Given the description of an element on the screen output the (x, y) to click on. 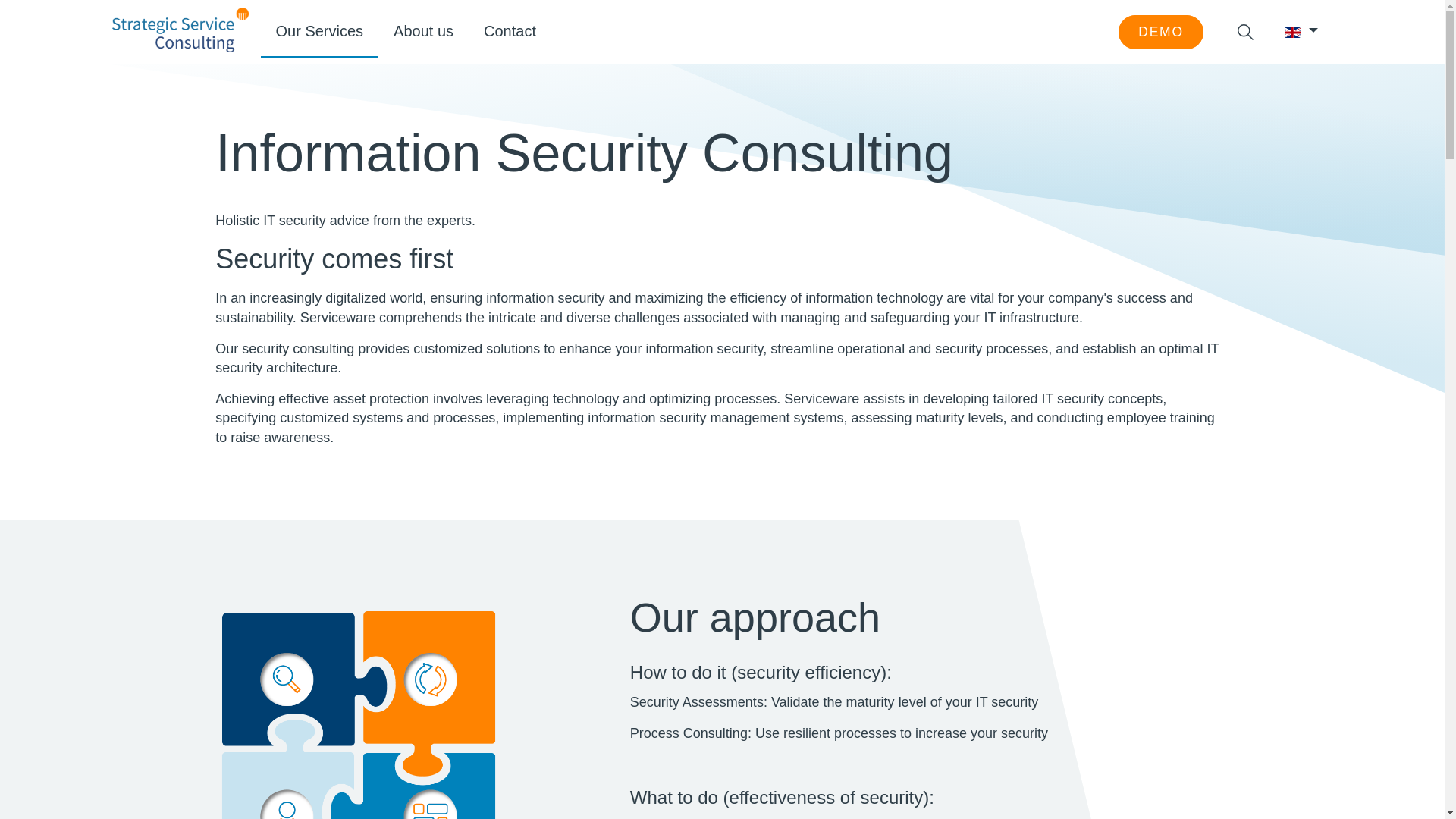
English (1292, 32)
About us (423, 31)
Search (1189, 93)
Our Services (319, 31)
DEMO (1161, 32)
Contact (509, 31)
